Given the description of an element on the screen output the (x, y) to click on. 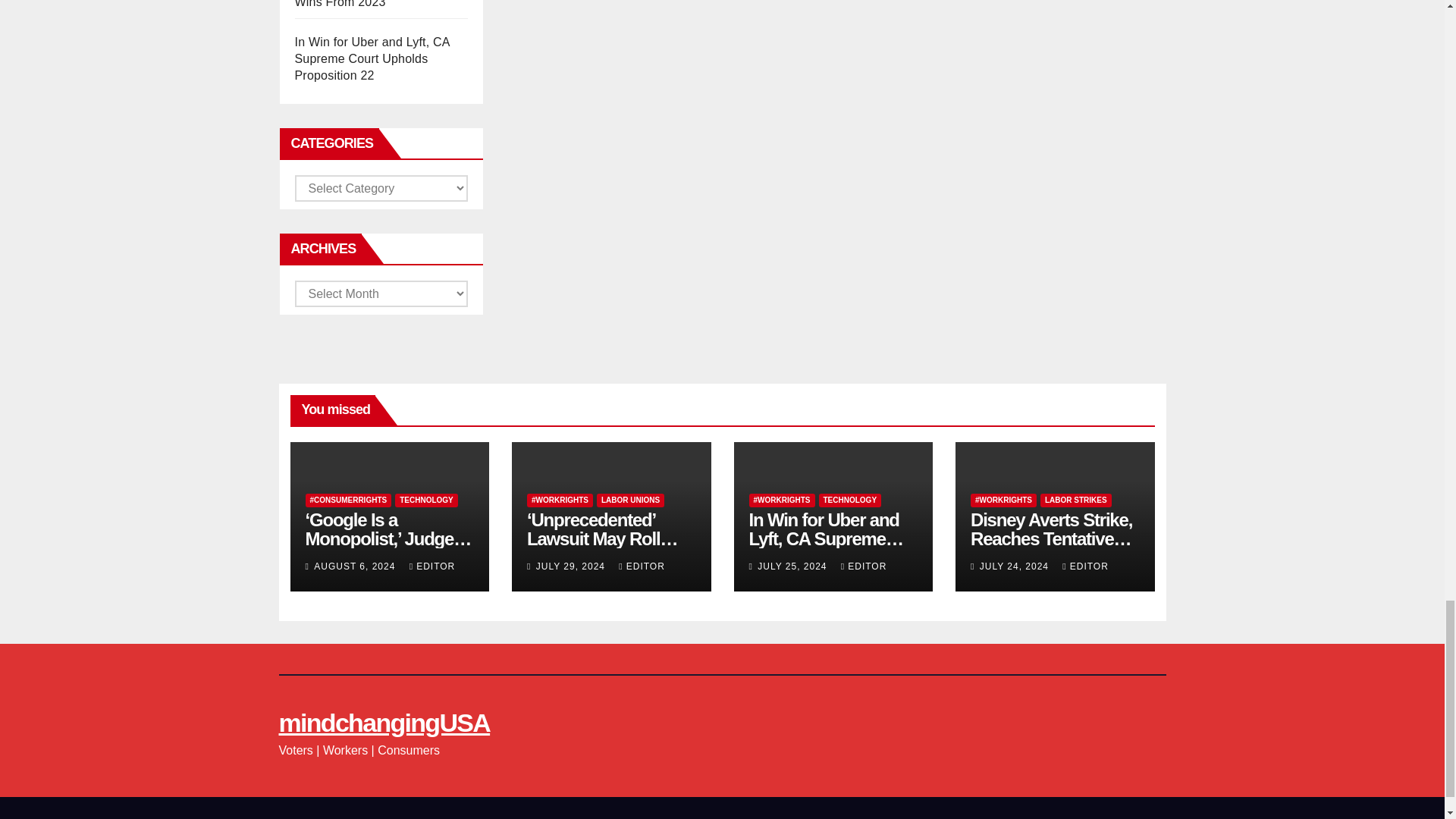
Home (1073, 817)
